Given the description of an element on the screen output the (x, y) to click on. 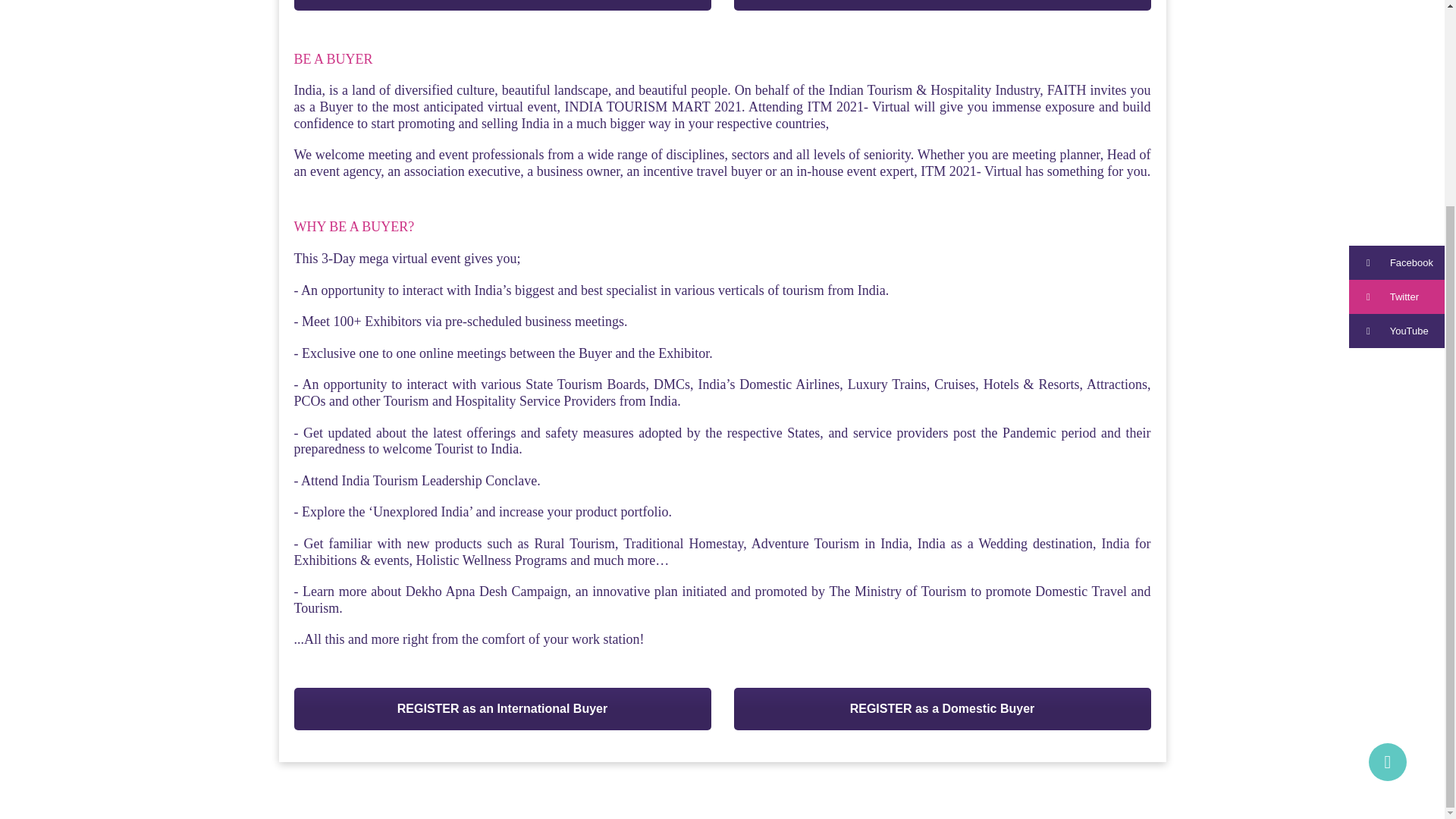
Domestic Buyer Form (942, 5)
REGISTER as an International Buyer (502, 708)
REGISTER as a Domestic Buyer (942, 708)
International Buyer Form (502, 5)
Back up (1387, 496)
REGISTER as an International Buyer (502, 5)
Domestic Buyer Form (942, 708)
REGISTER as a Domestic Buyer (942, 5)
International Buyer Form (502, 708)
